Given the description of an element on the screen output the (x, y) to click on. 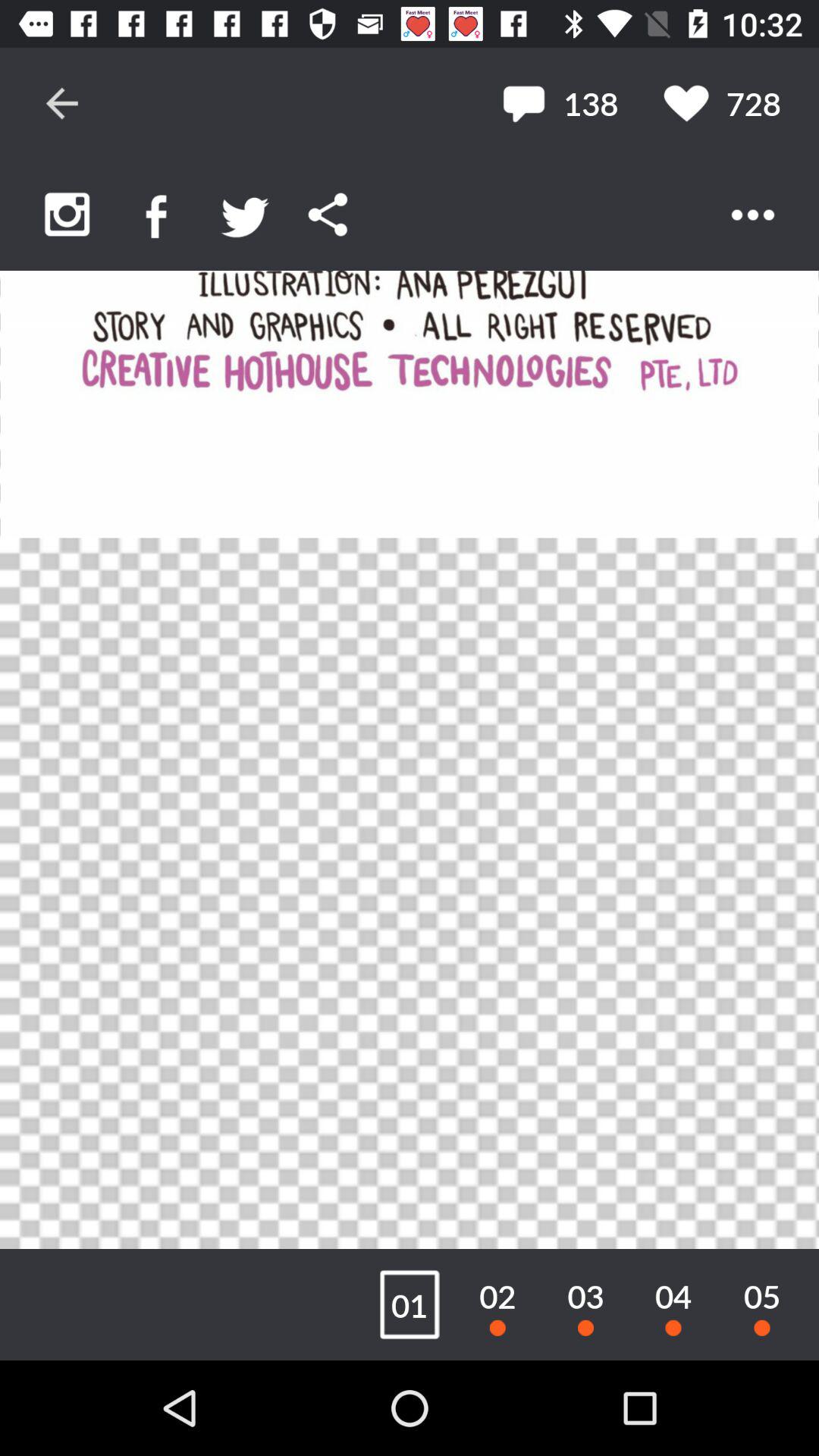
share button (327, 214)
